Given the description of an element on the screen output the (x, y) to click on. 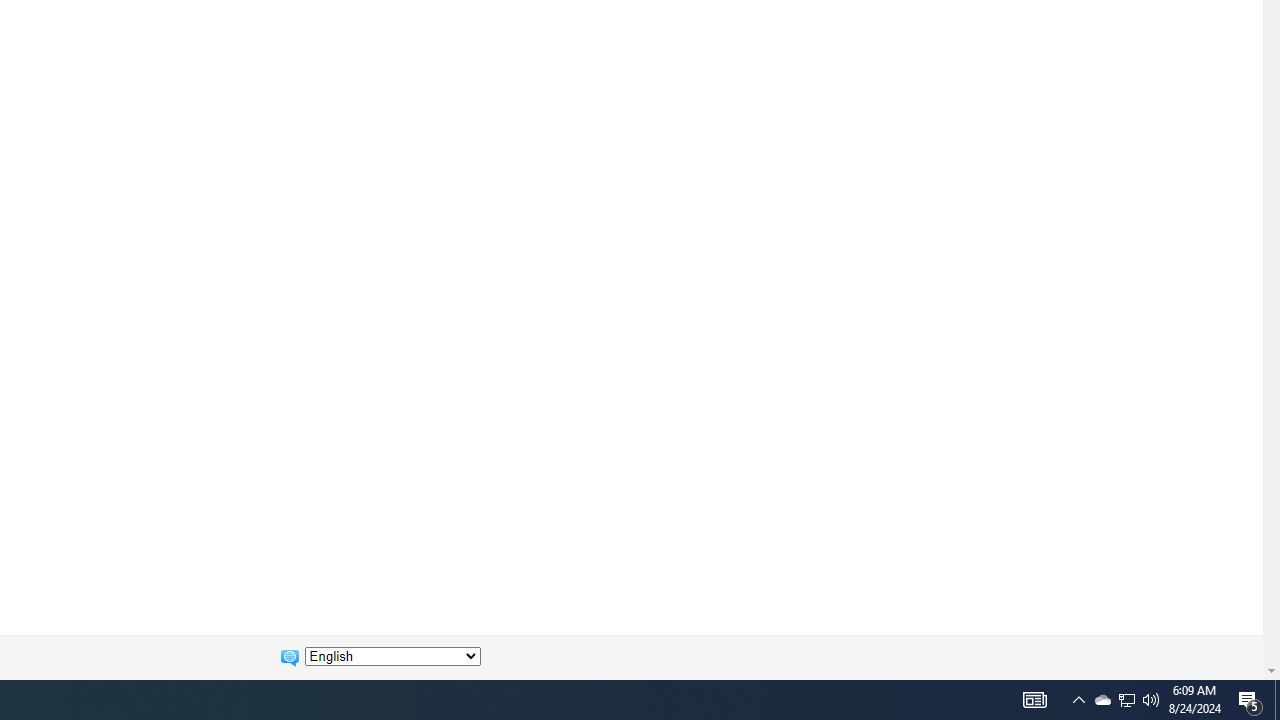
Change language: (392, 656)
